Given the description of an element on the screen output the (x, y) to click on. 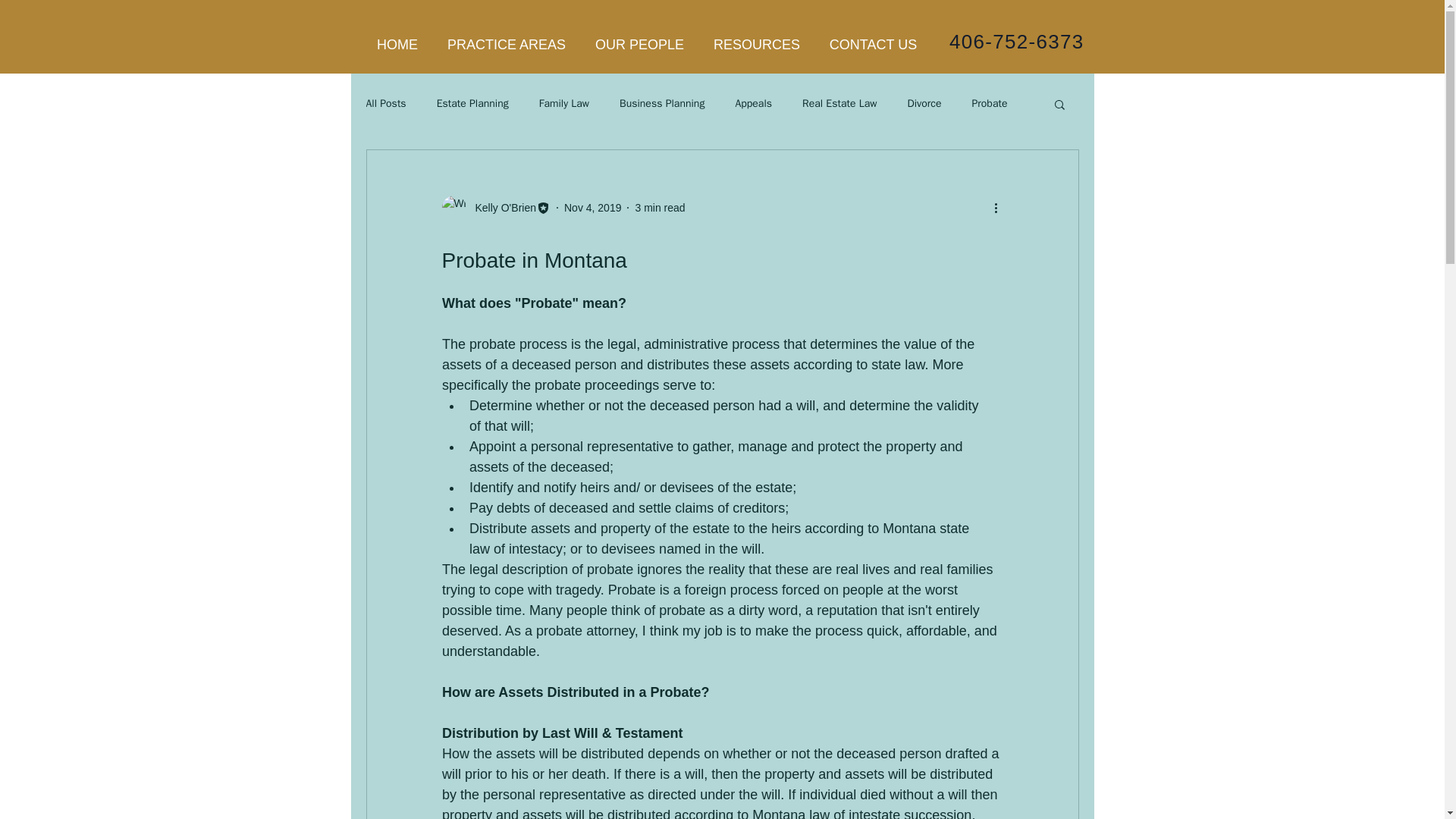
Nov 4, 2019 (592, 207)
Divorce (923, 103)
CONTACT US (872, 44)
Real Estate Law (839, 103)
Estate Planning (472, 103)
RESOURCES (756, 44)
OUR PEOPLE (639, 44)
All Posts (385, 103)
Kelly O'Brien (500, 207)
PRACTICE AREAS (505, 44)
HOME (397, 44)
Probate (989, 103)
Appeals (753, 103)
Business Planning (662, 103)
Family Law (563, 103)
